Given the description of an element on the screen output the (x, y) to click on. 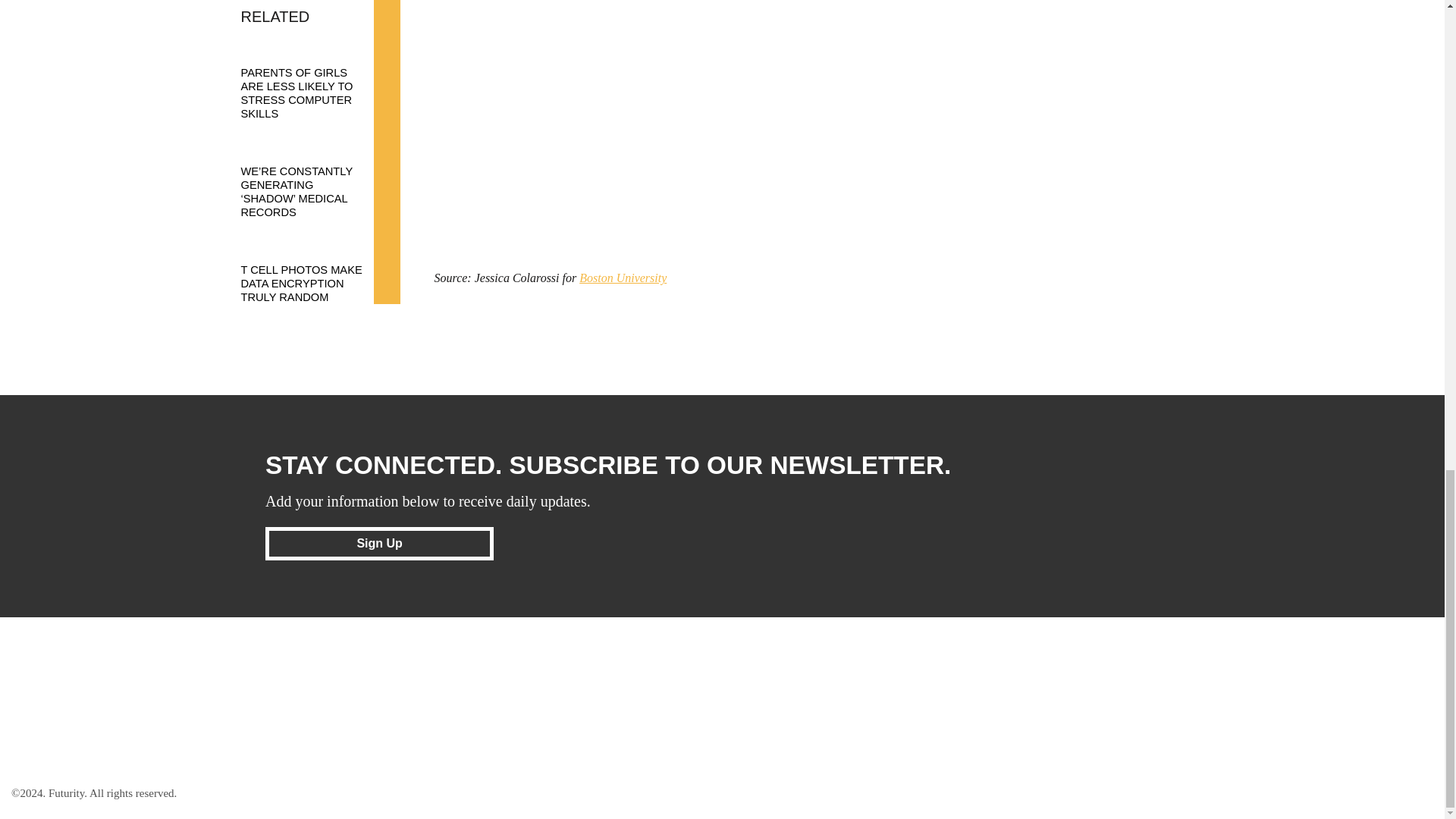
Parents of girls are less likely to stress computer skills (313, 78)
